Given the description of an element on the screen output the (x, y) to click on. 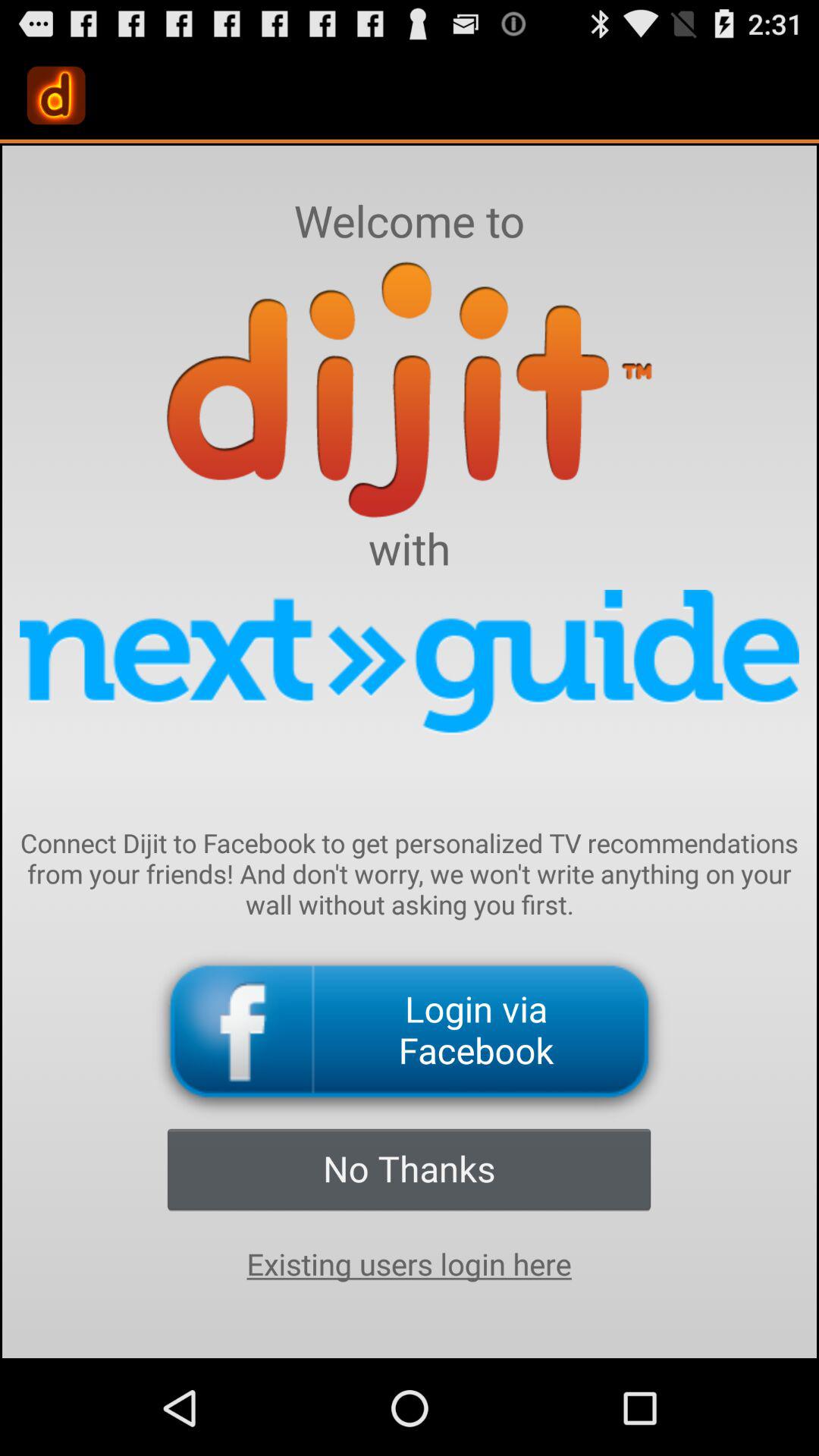
press the no thanks icon (409, 1168)
